Given the description of an element on the screen output the (x, y) to click on. 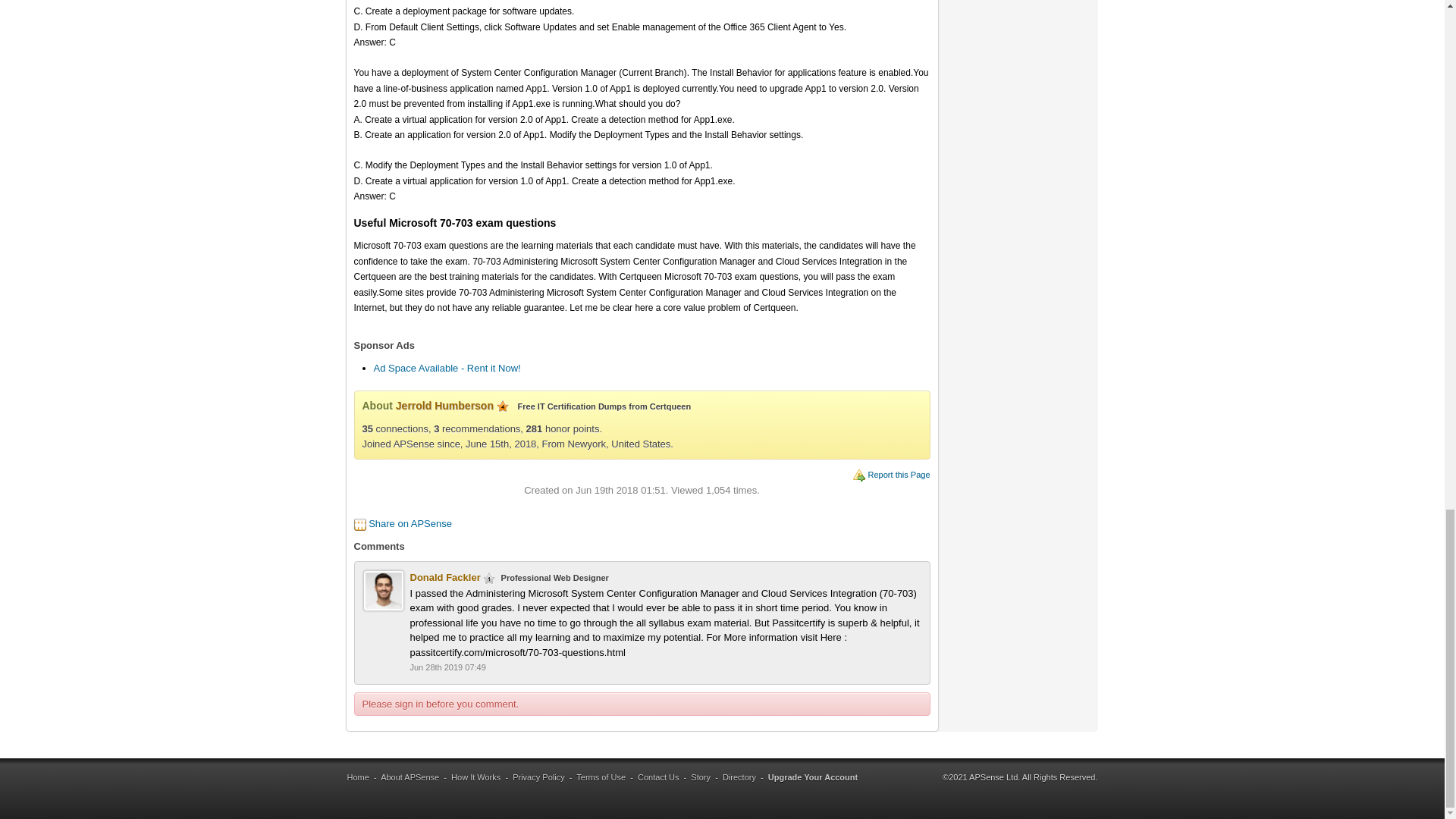
Junior (489, 578)
Share on APSense (409, 523)
Advanced (502, 406)
Jerrold Humberson (444, 405)
Report this Page (898, 474)
Ad Space Available - Rent it Now! (445, 367)
Donald Fackler (444, 577)
Share on APSense (409, 523)
